Given the description of an element on the screen output the (x, y) to click on. 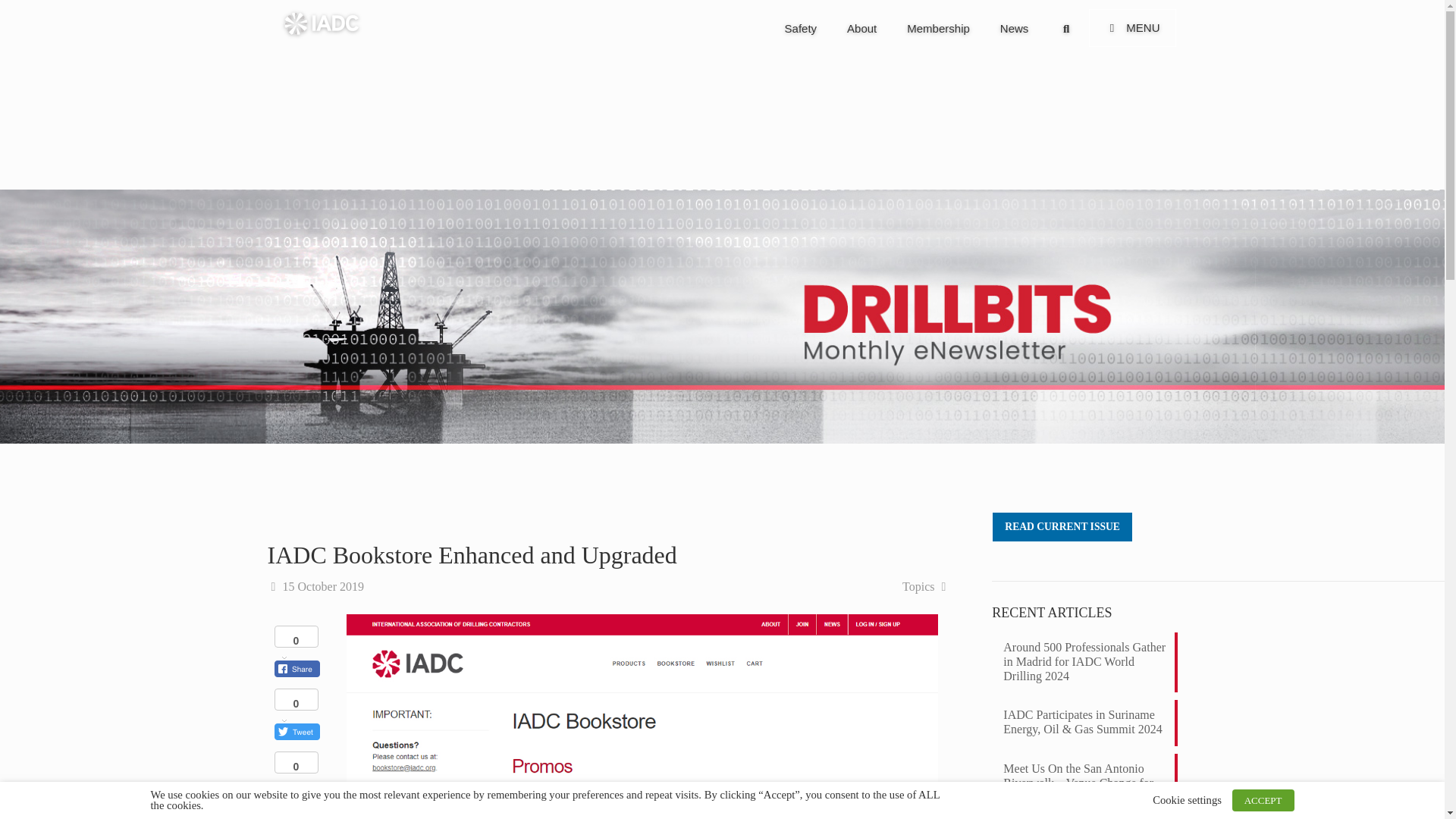
About (861, 28)
Membership (938, 28)
MENU (1132, 27)
News (1014, 28)
Safety (973, 27)
IADC.org (801, 28)
